Given the description of an element on the screen output the (x, y) to click on. 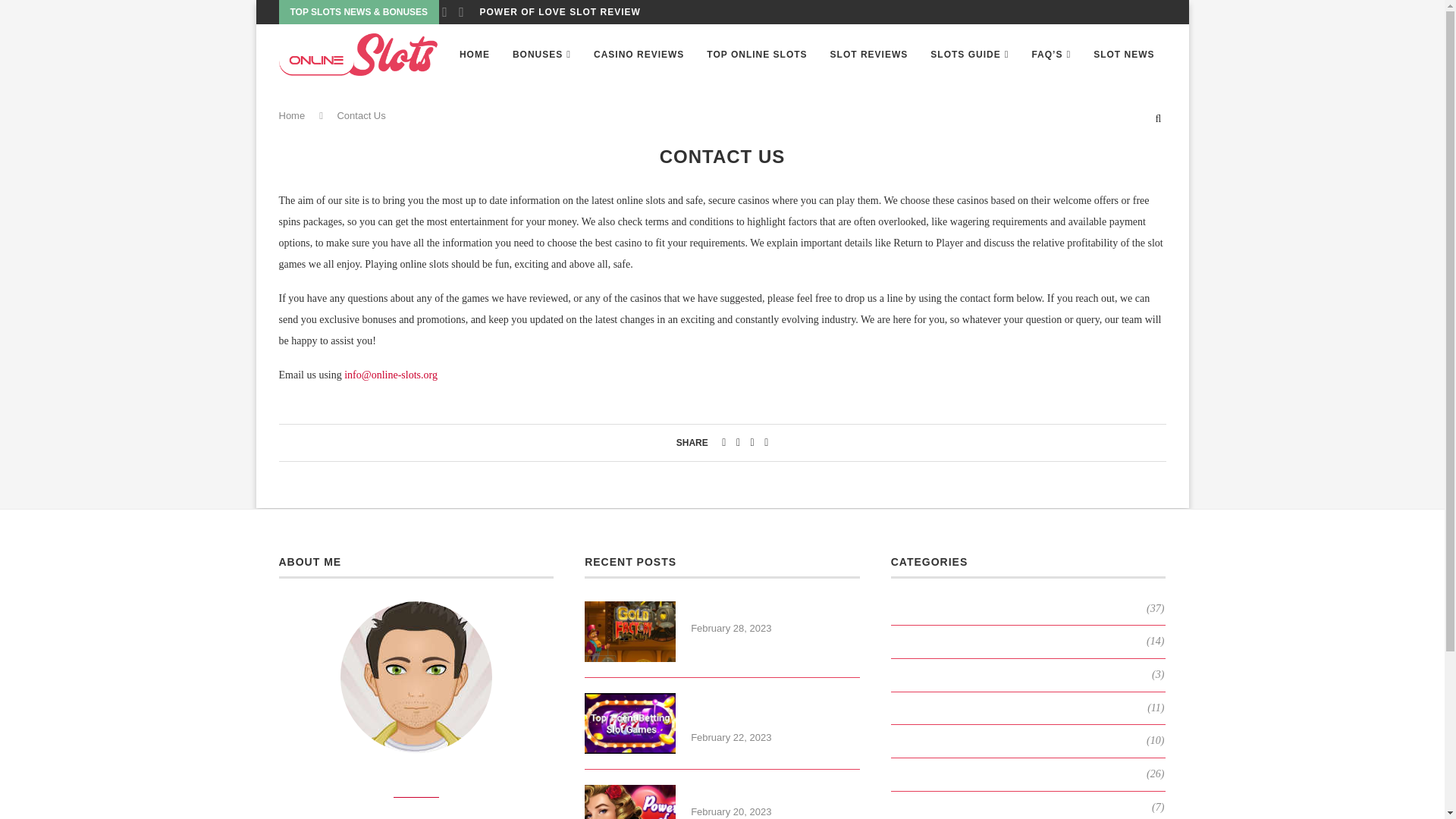
POWER OF LOVE SLOT REVIEW (559, 12)
Gold Factory (630, 631)
Top 1 cent Betting Slot games (775, 709)
Top 1 cent Betting Slot games (630, 722)
Gold Factory (775, 609)
Power of Love Slot Review (775, 792)
Power of Love Slot Review (630, 801)
